Given the description of an element on the screen output the (x, y) to click on. 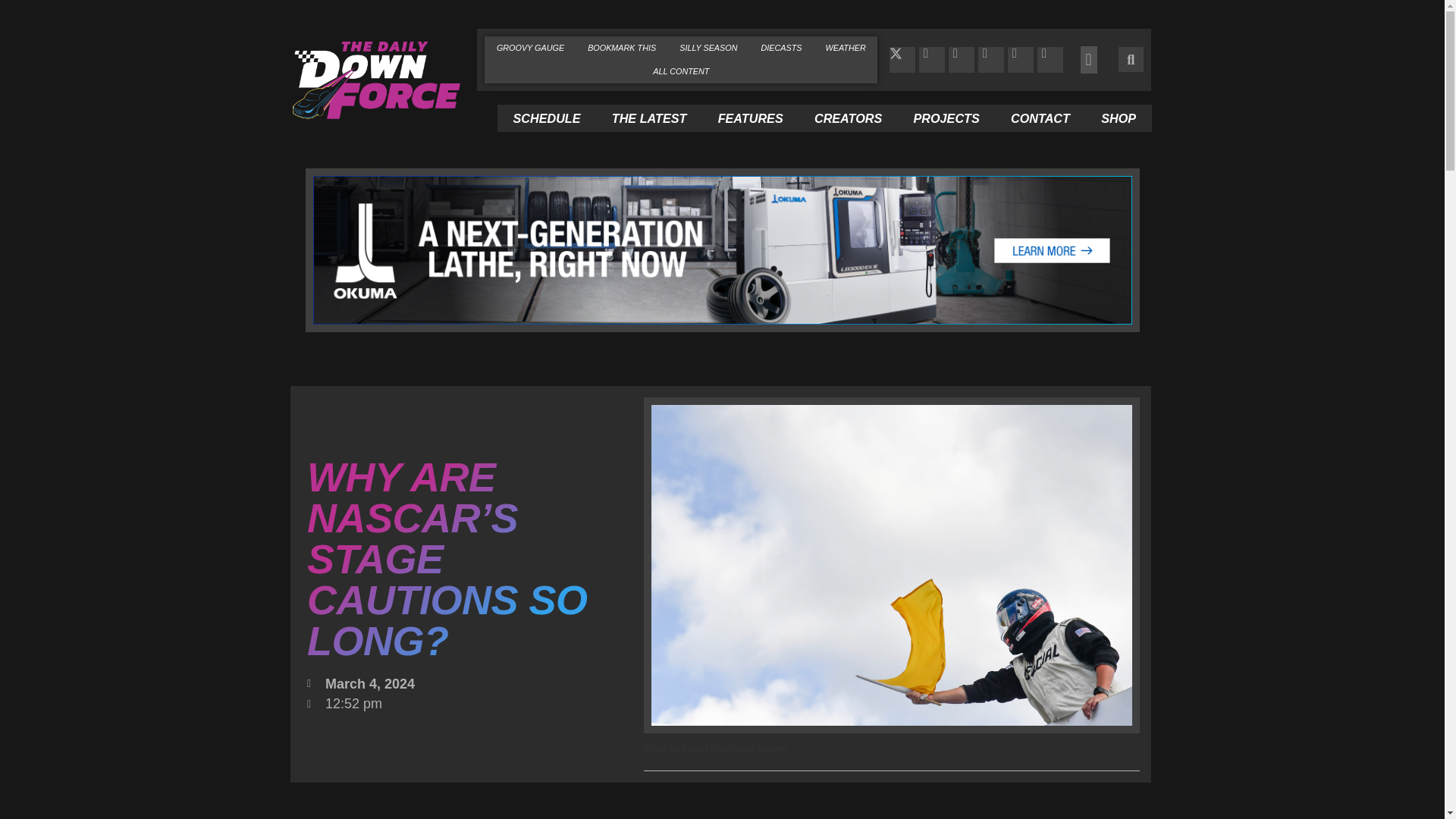
DIECASTS (781, 47)
SCHEDULE (546, 117)
WEATHER (845, 47)
GROOVY GAUGE (529, 47)
FEATURES (749, 117)
BOOKMARK THIS (622, 47)
ALL CONTENT (680, 71)
SILLY SEASON (708, 47)
THE LATEST (648, 117)
